Given the description of an element on the screen output the (x, y) to click on. 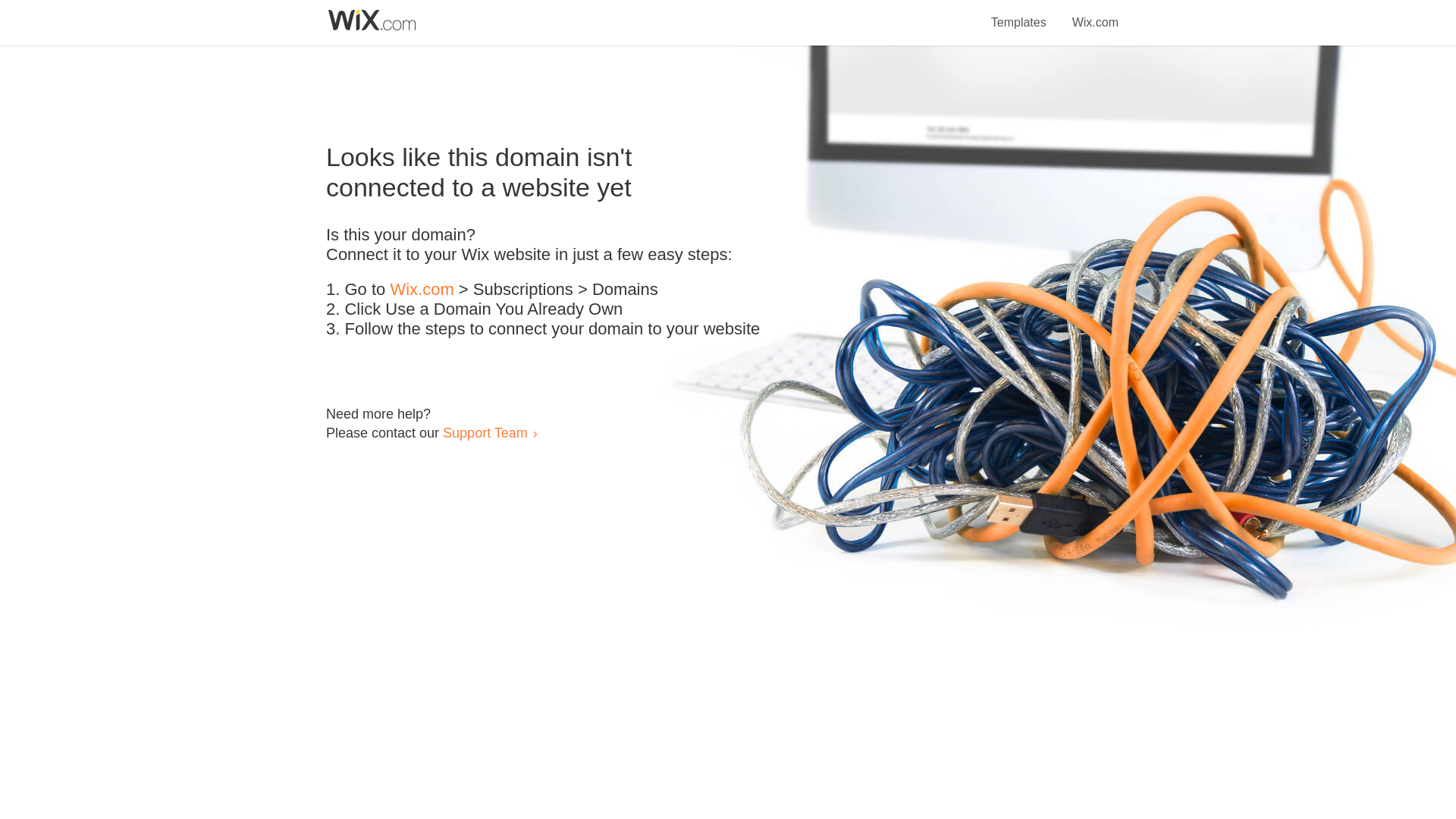
Templates (1018, 14)
Wix.com (1095, 14)
Wix.com (421, 289)
Support Team (484, 432)
